Given the description of an element on the screen output the (x, y) to click on. 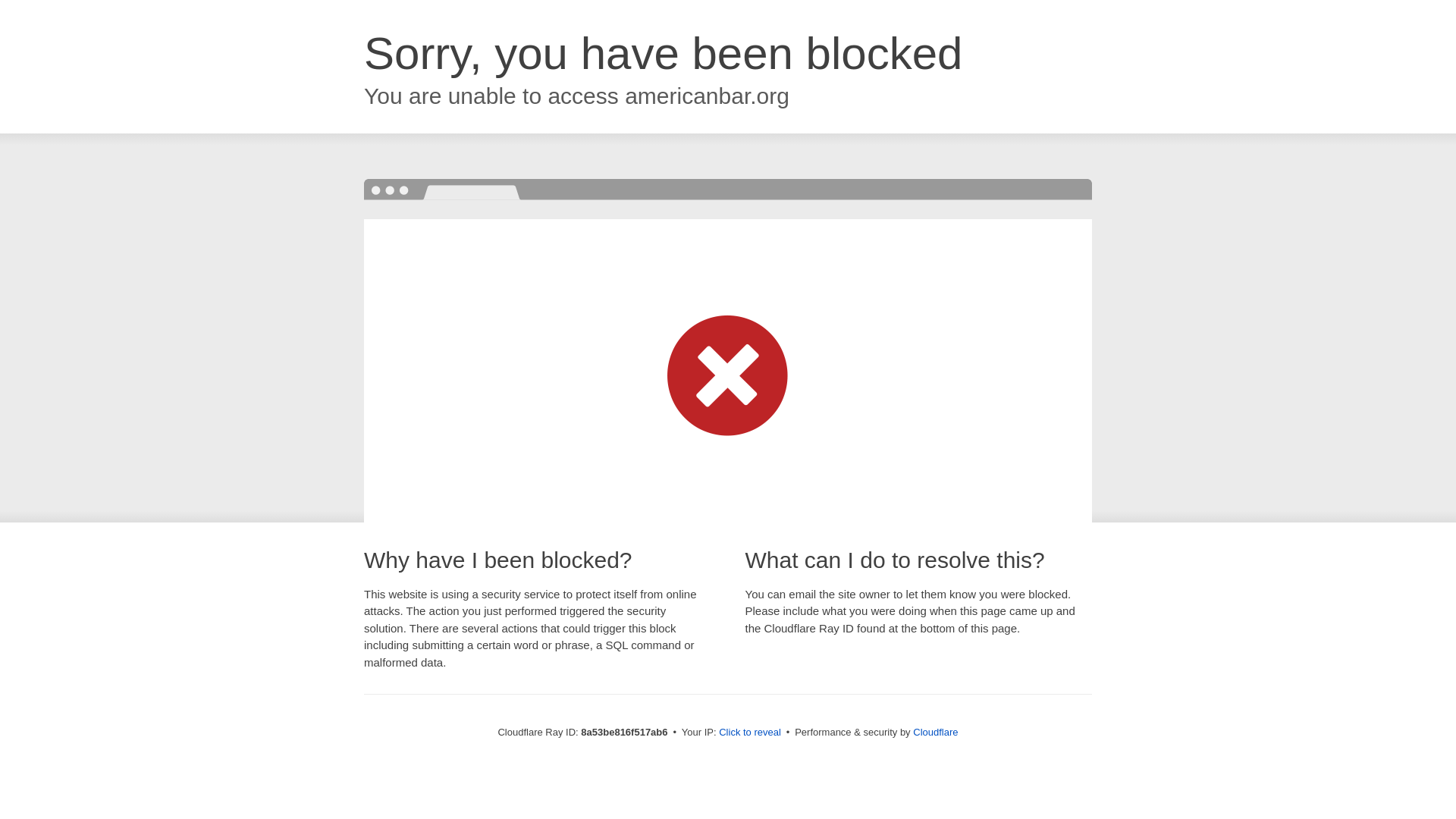
Cloudflare (935, 731)
Click to reveal (749, 732)
